Given the description of an element on the screen output the (x, y) to click on. 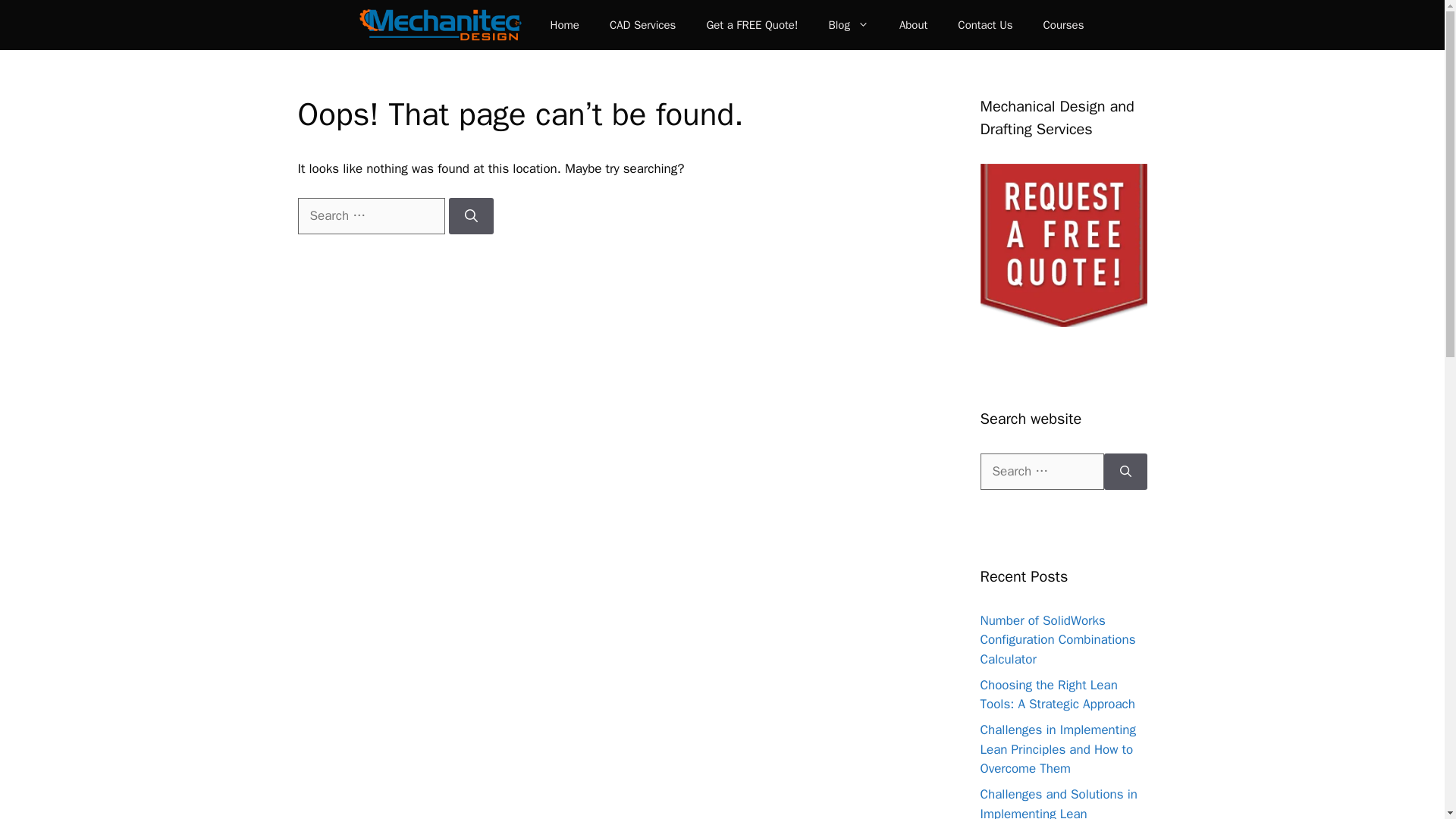
Blog (847, 24)
Contact Us (984, 24)
About (912, 24)
Search for: (1041, 471)
Search for: (370, 216)
CAD Services (642, 24)
Home (564, 24)
Choosing the Right Lean Tools: A Strategic Approach (1056, 694)
Number of SolidWorks Configuration Combinations Calculator (1057, 639)
Get a FREE Quote! (751, 24)
Courses (1063, 24)
Mechanitec Design (440, 24)
